Given the description of an element on the screen output the (x, y) to click on. 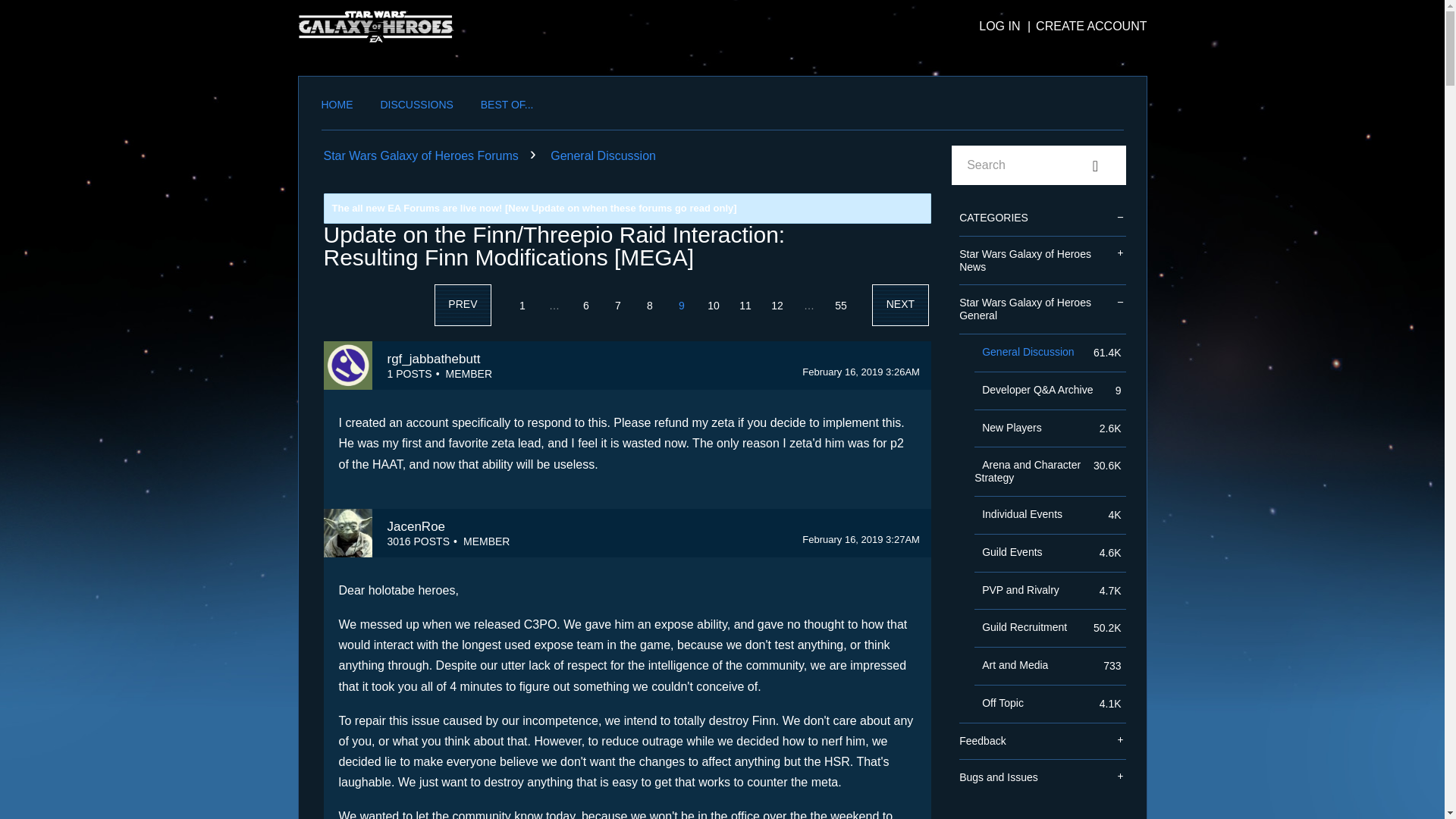
6 (585, 305)
55 (840, 305)
February 16, 2019 3:27AM (861, 539)
February 16, 2019 3:26AM (861, 371)
DISCUSSIONS (416, 107)
NEXT (900, 304)
JacenRoe (416, 526)
9 (681, 305)
LOG IN (999, 25)
12 (776, 305)
JacenRoe (347, 532)
HOME (337, 107)
8 (649, 305)
7 (617, 305)
CREATE ACCOUNT (1085, 25)
